Given the description of an element on the screen output the (x, y) to click on. 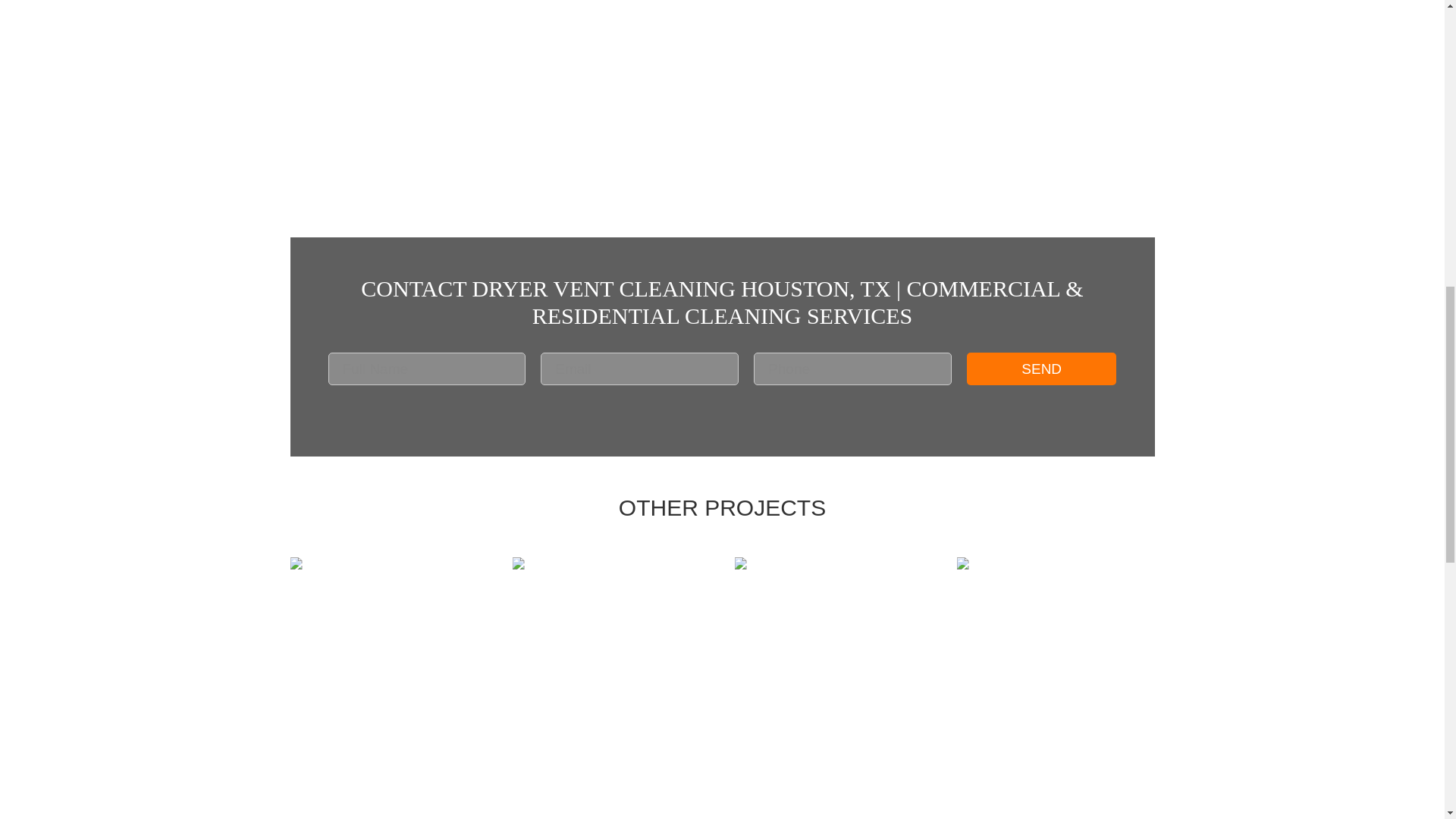
SEND (1041, 368)
SEND (1041, 368)
